Given the description of an element on the screen output the (x, y) to click on. 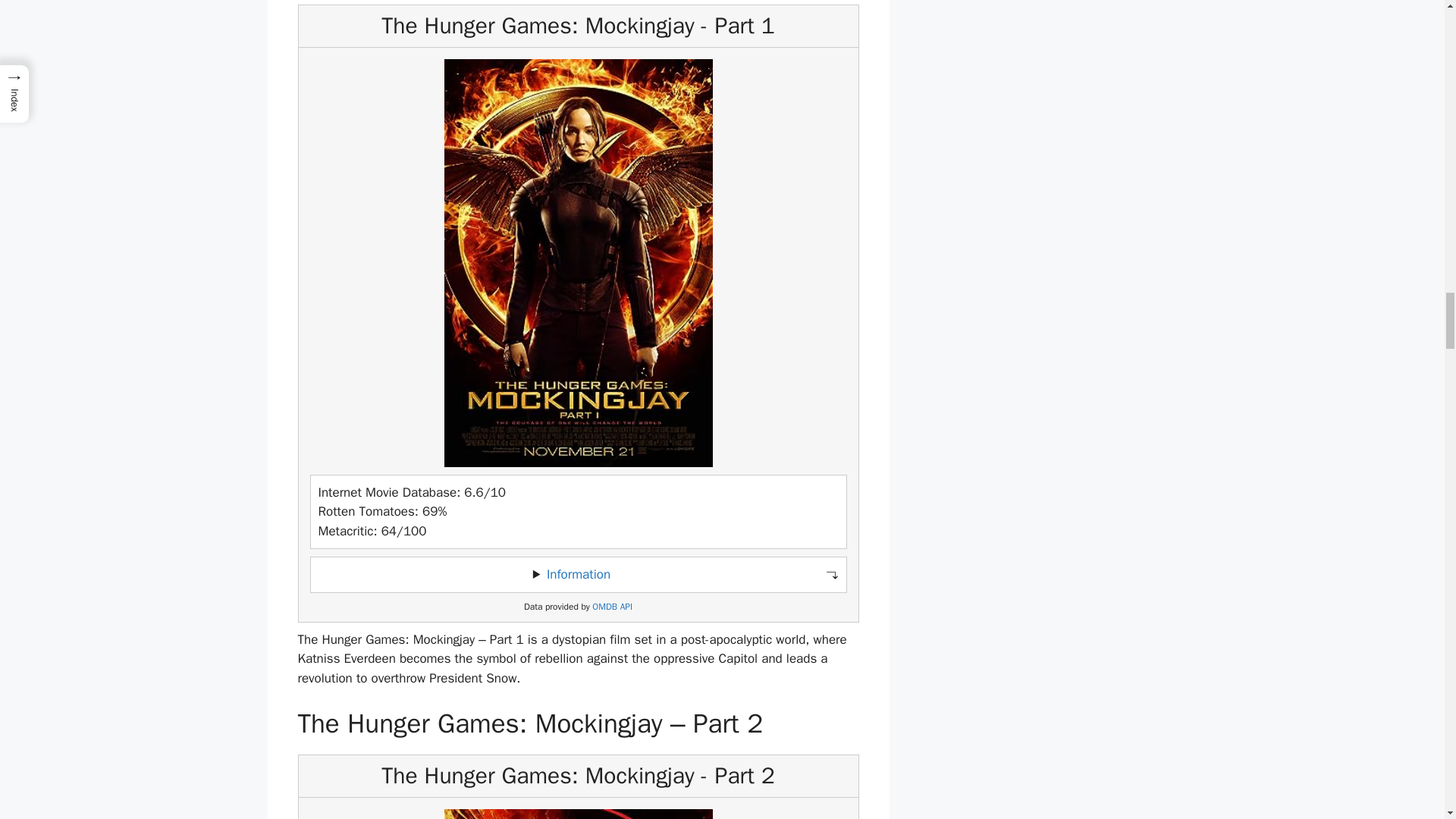
OMDB API (611, 606)
Toggle information (578, 574)
Information (578, 574)
Open Movie Database API (611, 606)
